Given the description of an element on the screen output the (x, y) to click on. 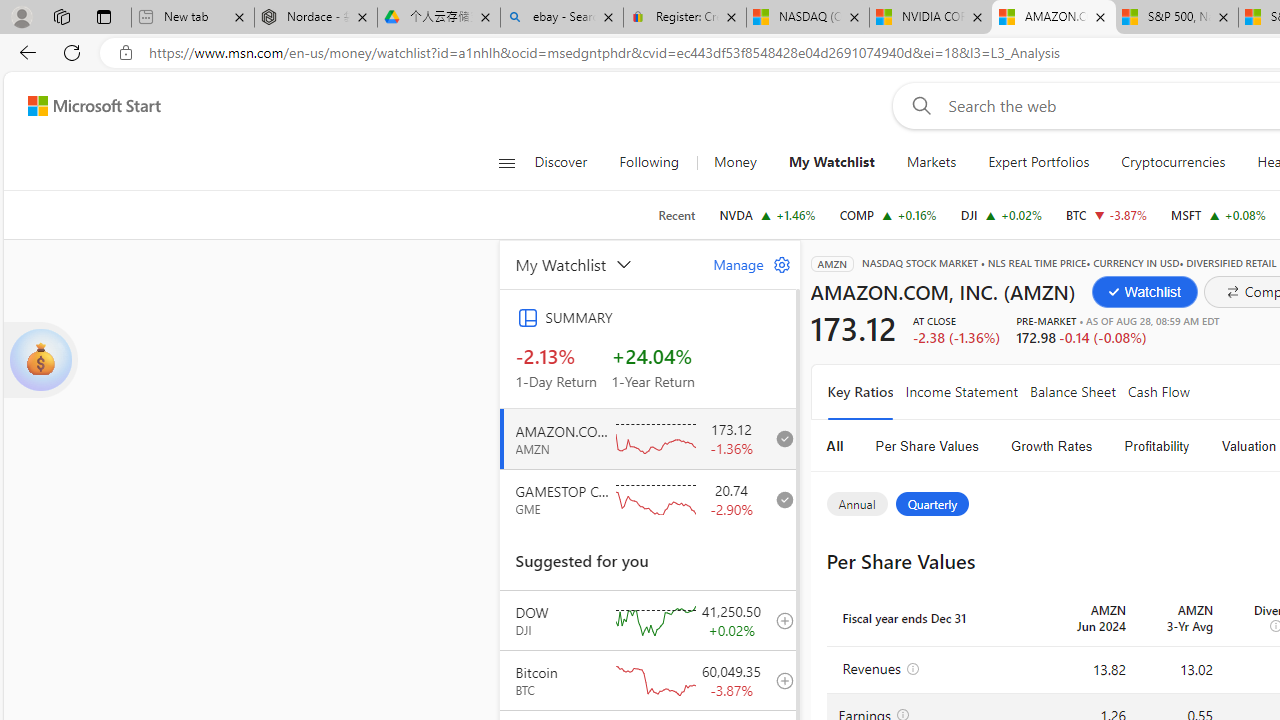
Class: button-glyph (505, 162)
Money (734, 162)
Manage (744, 264)
